Given the description of an element on the screen output the (x, y) to click on. 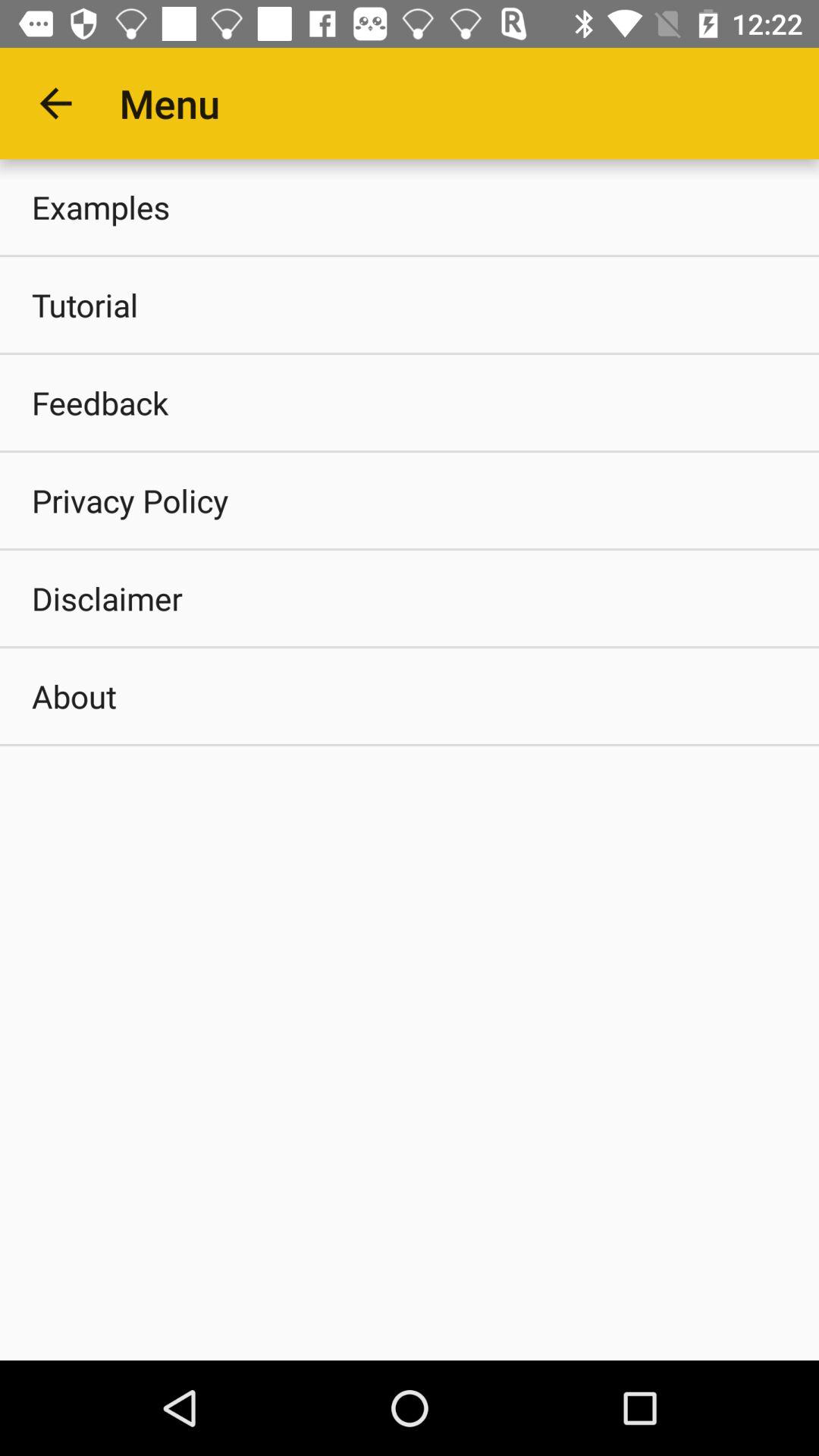
open the item below the tutorial icon (409, 402)
